Given the description of an element on the screen output the (x, y) to click on. 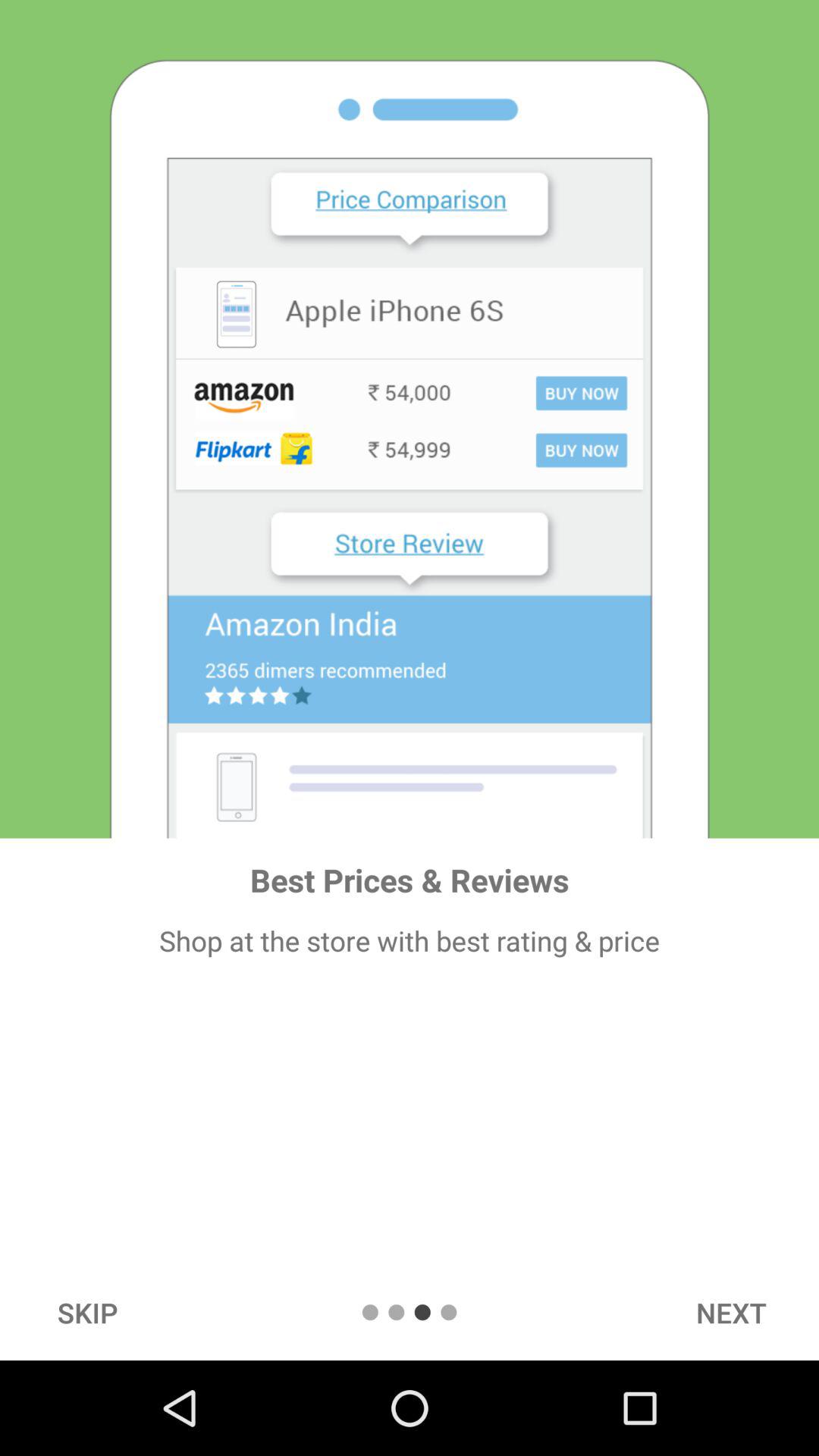
jump to the next item (731, 1312)
